Given the description of an element on the screen output the (x, y) to click on. 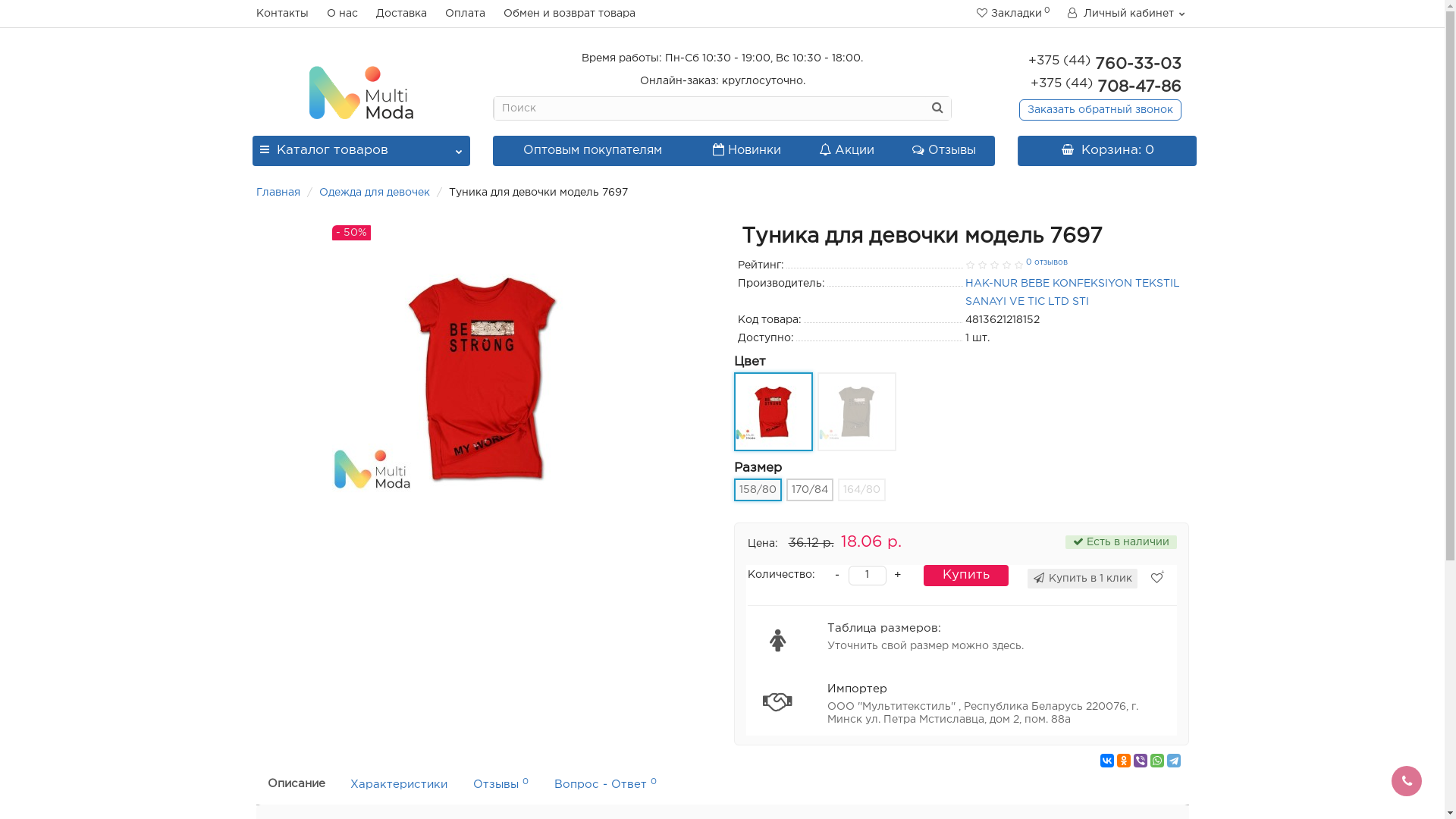
WhatsApp Element type: hover (1156, 760)
+375 (44) 760-33-03 Element type: text (1104, 64)
Viber Element type: hover (1139, 760)
Telegram Element type: hover (1172, 760)
- Element type: text (836, 575)
HAK-NUR BEBE KONFEKSIYON TEKSTIL SANAYI VE TIC LTD STI Element type: text (1072, 292)
+ Element type: text (896, 575)
+375 (44) 708-47-86 Element type: text (1104, 87)
Multimoda.by Element type: hover (361, 92)
- 50% Element type: text (483, 376)
